Given the description of an element on the screen output the (x, y) to click on. 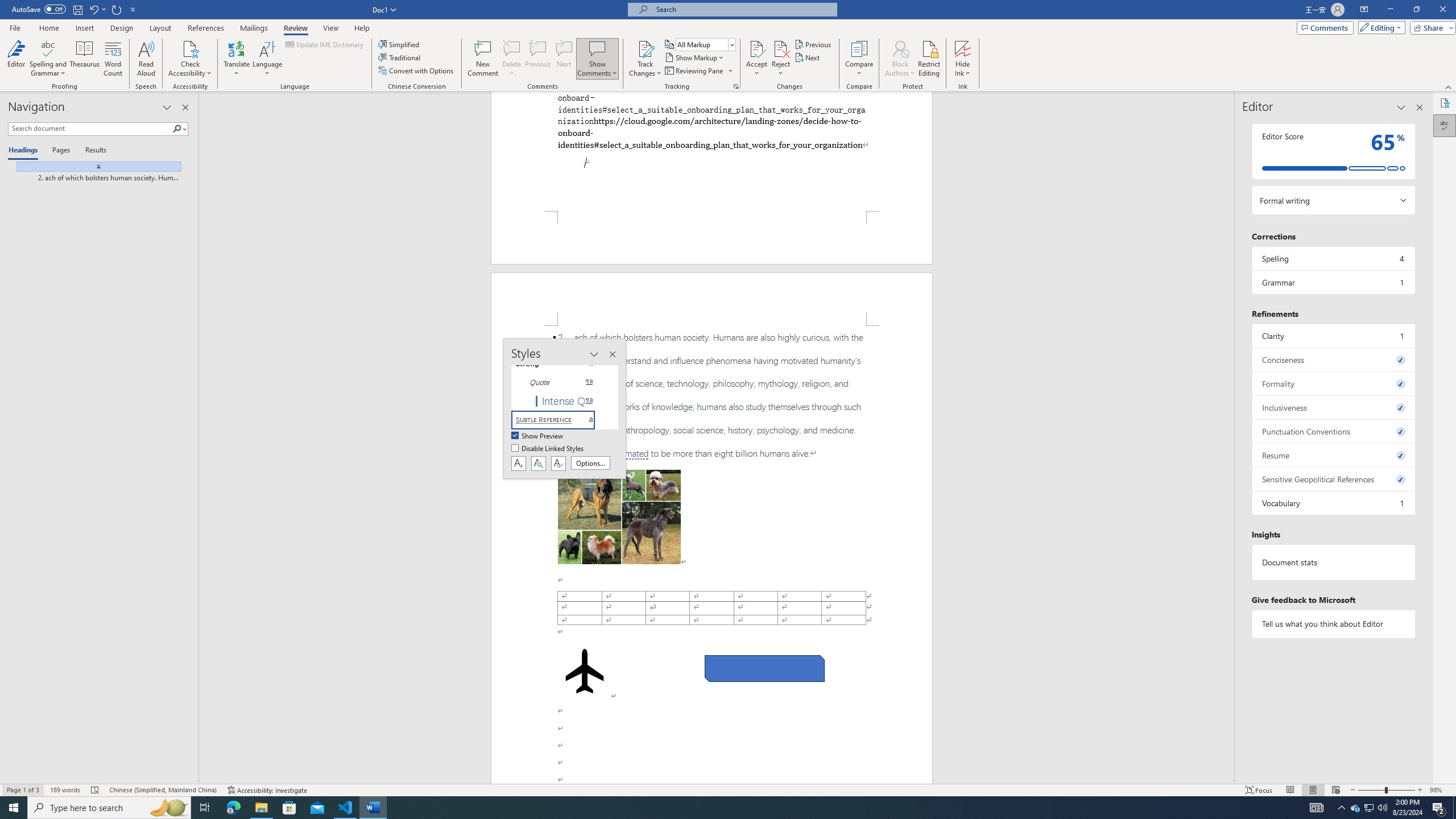
Page Number Page 1 of 3 (22, 790)
Document statistics (1333, 561)
Word Count (113, 58)
Translate (236, 58)
Change Tracking Options... (735, 85)
Display for Review (705, 44)
